Given the description of an element on the screen output the (x, y) to click on. 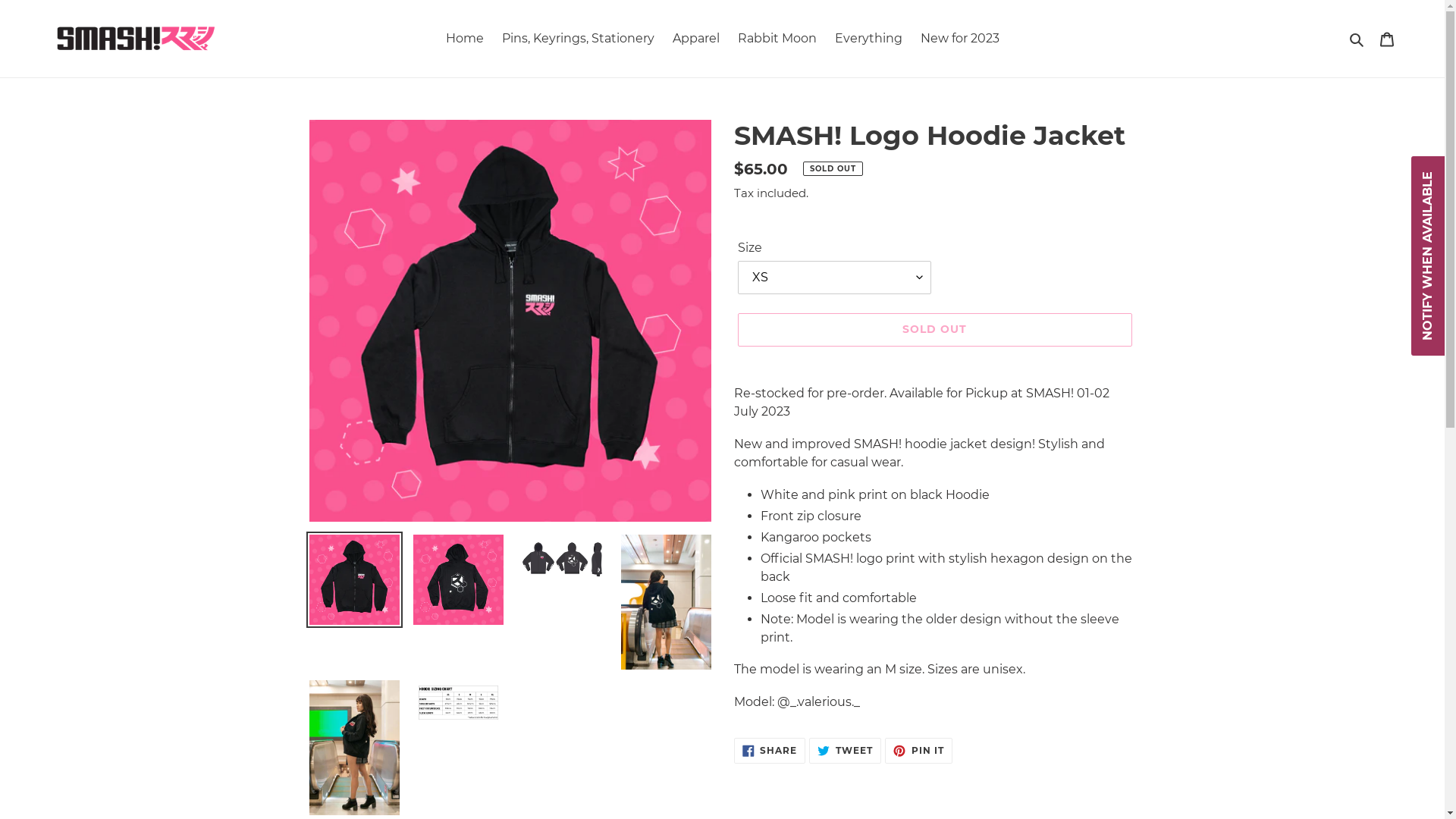
Rabbit Moon Element type: text (776, 38)
Search Element type: text (1357, 38)
Pins, Keyrings, Stationery Element type: text (578, 38)
SOLD OUT Element type: text (934, 328)
SHARE
SHARE ON FACEBOOK Element type: text (770, 750)
TWEET
TWEET ON TWITTER Element type: text (845, 750)
Home Element type: text (464, 38)
Cart Element type: text (1386, 38)
PIN IT
PIN ON PINTEREST Element type: text (918, 750)
Apparel Element type: text (695, 38)
New for 2023 Element type: text (960, 38)
Everything Element type: text (867, 38)
